Given the description of an element on the screen output the (x, y) to click on. 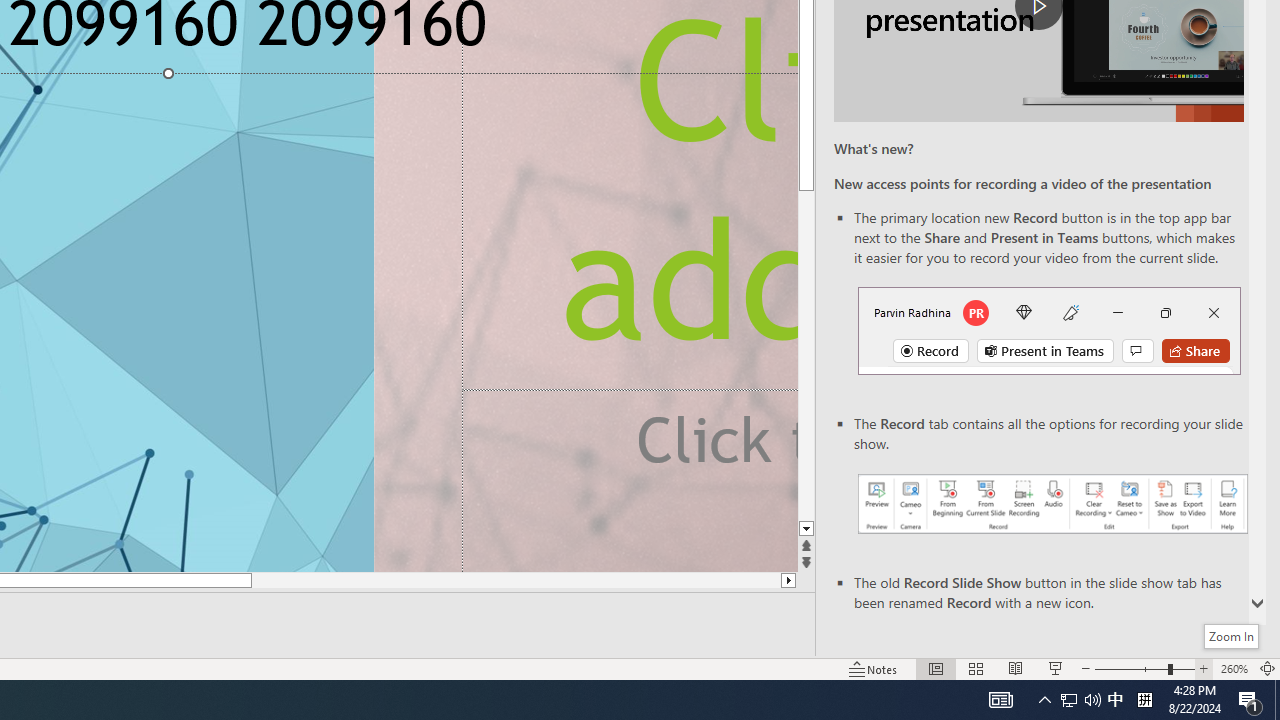
Zoom In (1204, 668)
Zoom to Fit  (1267, 668)
